Given the description of an element on the screen output the (x, y) to click on. 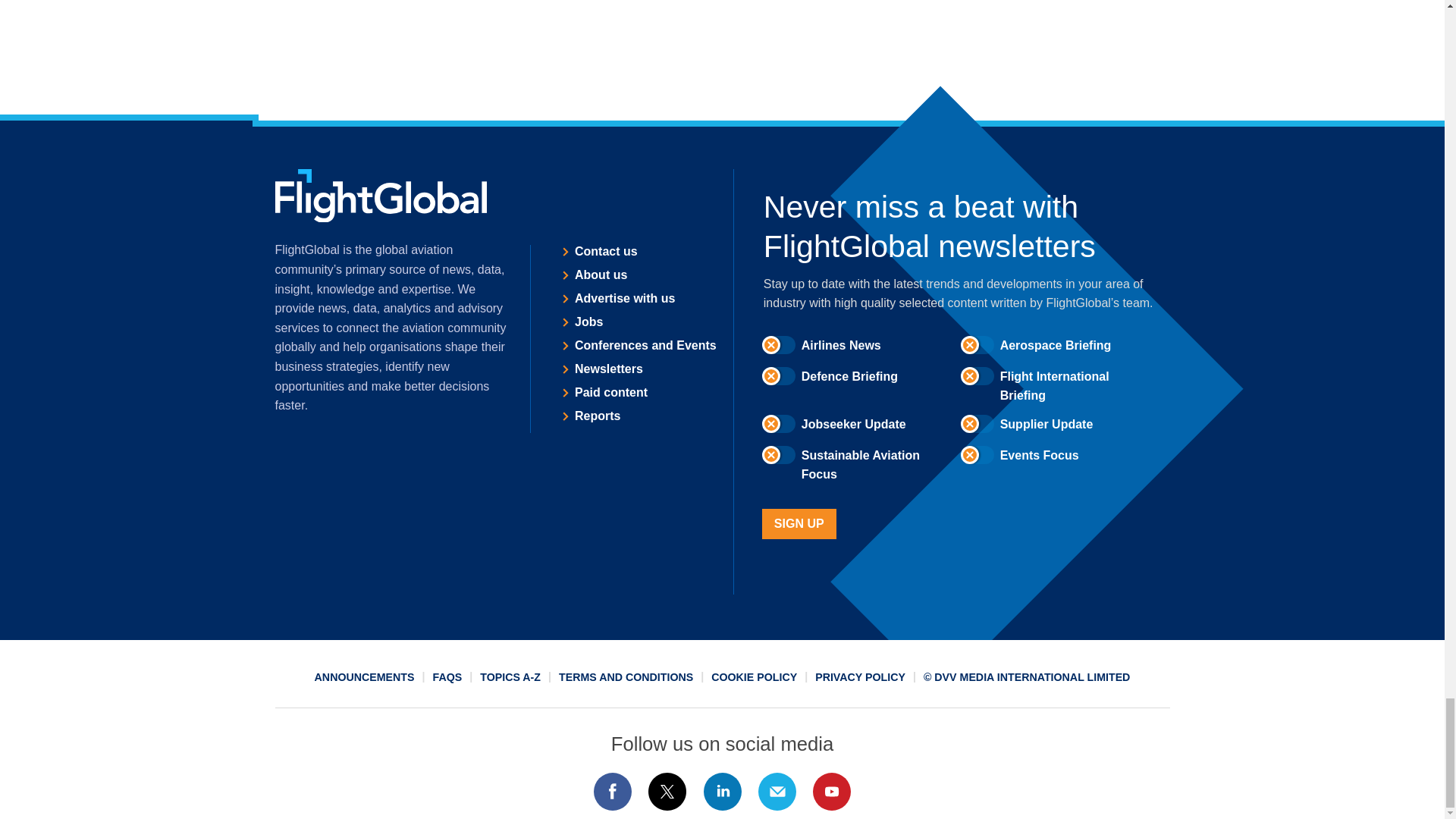
Connect with us on Youtube (831, 791)
Connect with us on Twitter (667, 791)
Connect with us on Facebook (611, 791)
